Given the description of an element on the screen output the (x, y) to click on. 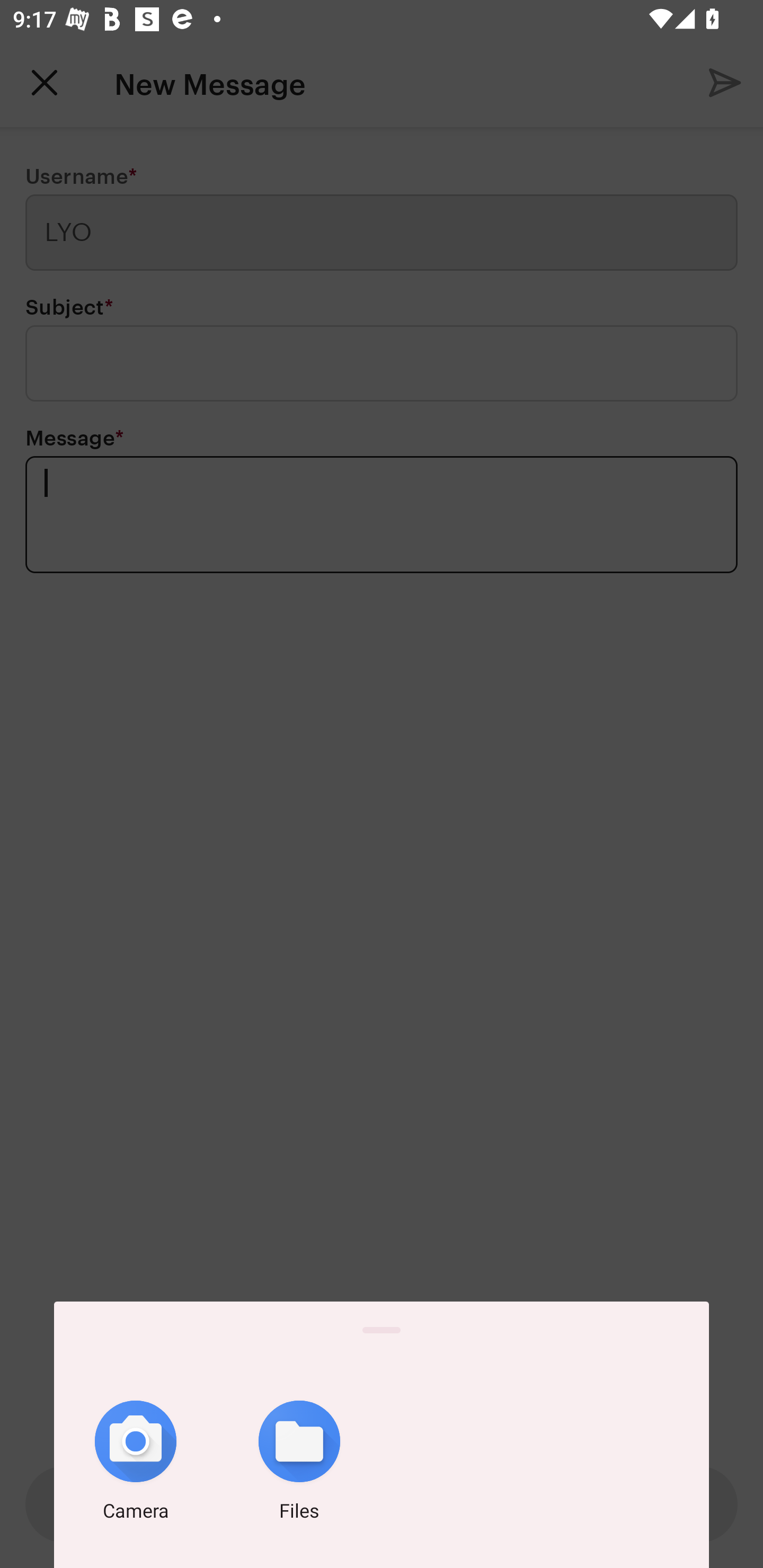
Camera (135, 1463)
Files (299, 1463)
